Given the description of an element on the screen output the (x, y) to click on. 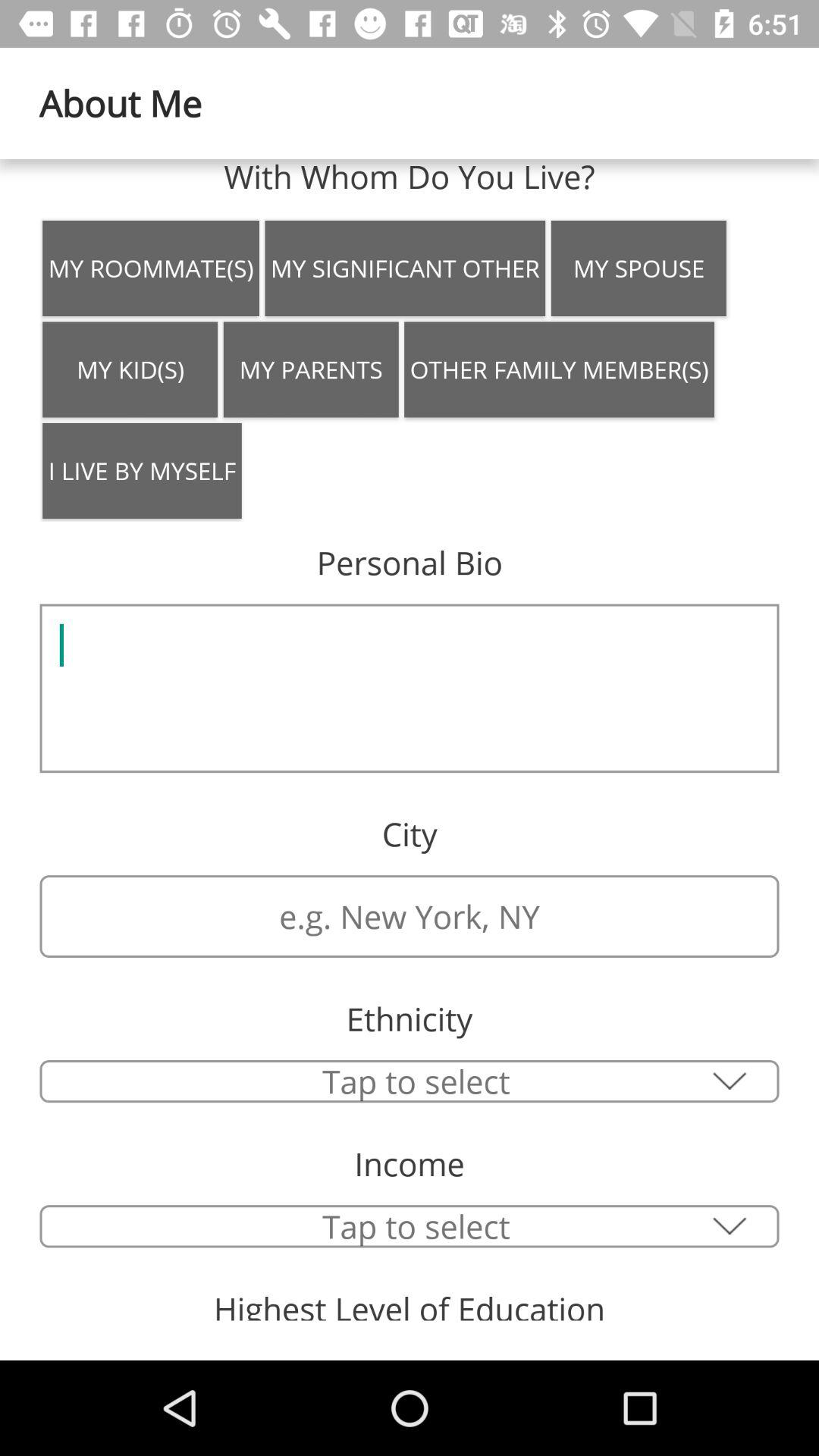
press icon next to other family member item (310, 369)
